Given the description of an element on the screen output the (x, y) to click on. 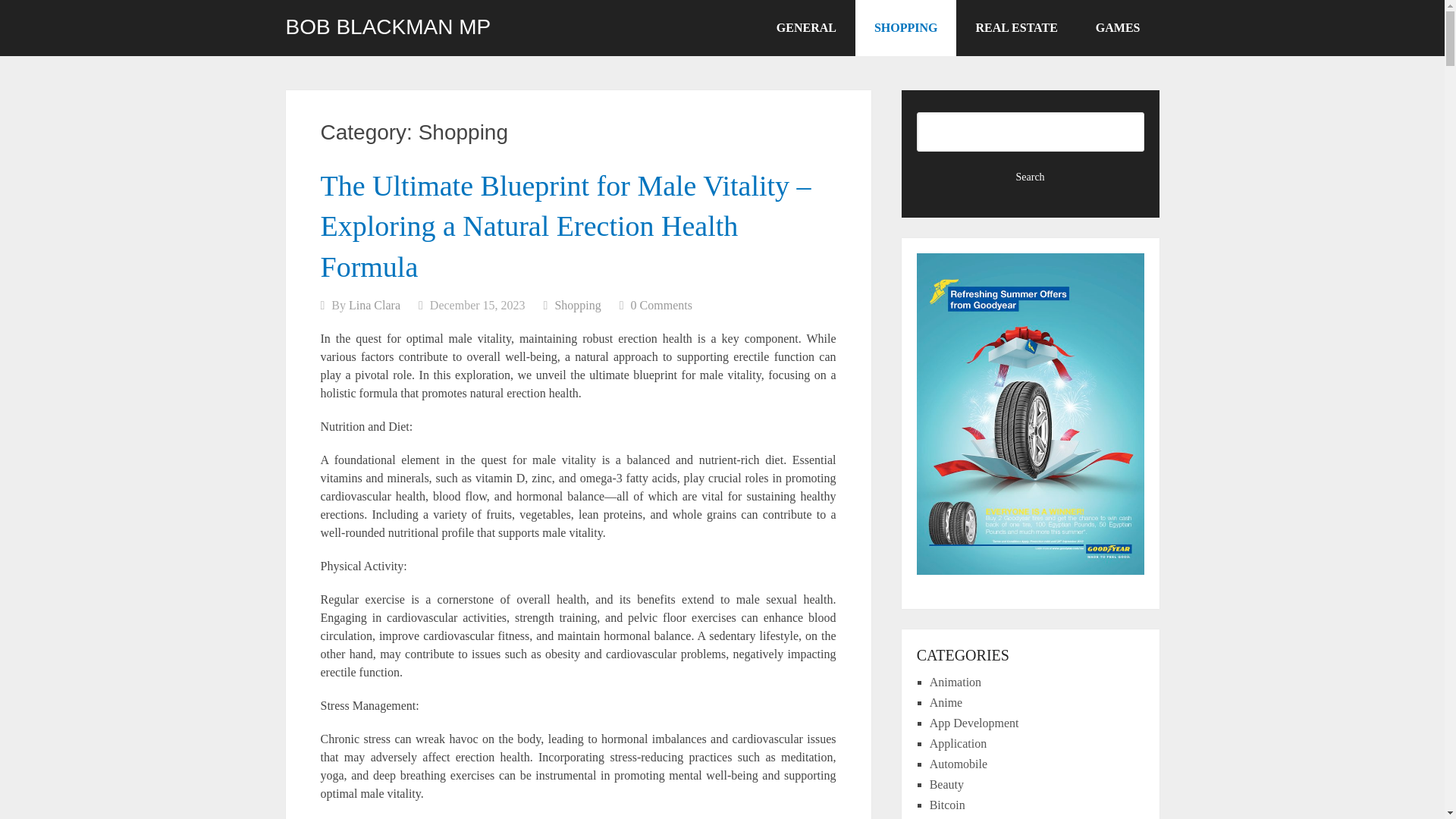
Search (1030, 176)
GENERAL (806, 28)
GAMES (1117, 28)
Lina Clara (374, 305)
0 Comments (661, 305)
SHOPPING (906, 28)
REAL ESTATE (1015, 28)
Shopping (576, 305)
Posts by Lina Clara (374, 305)
BOB BLACKMAN MP (387, 26)
